Given the description of an element on the screen output the (x, y) to click on. 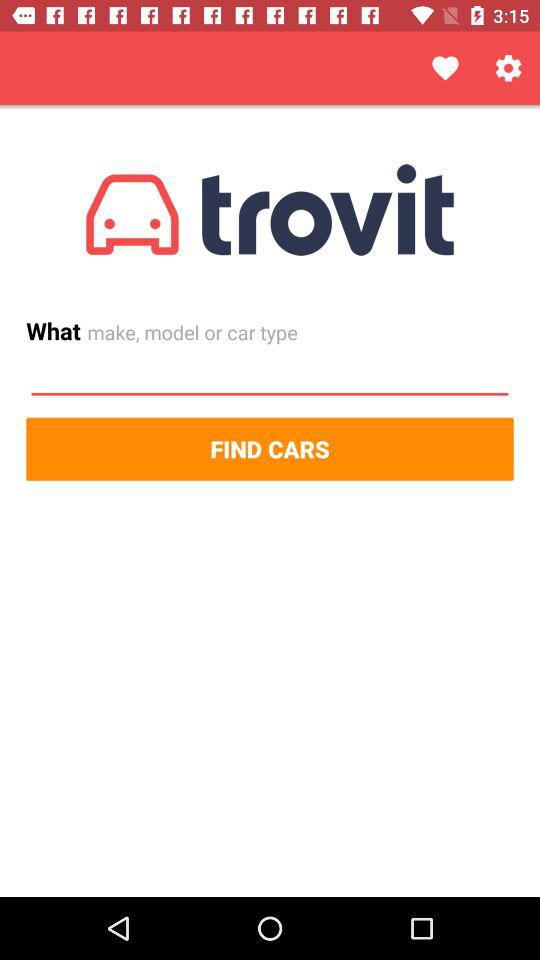
click item above the find cars (269, 375)
